Given the description of an element on the screen output the (x, y) to click on. 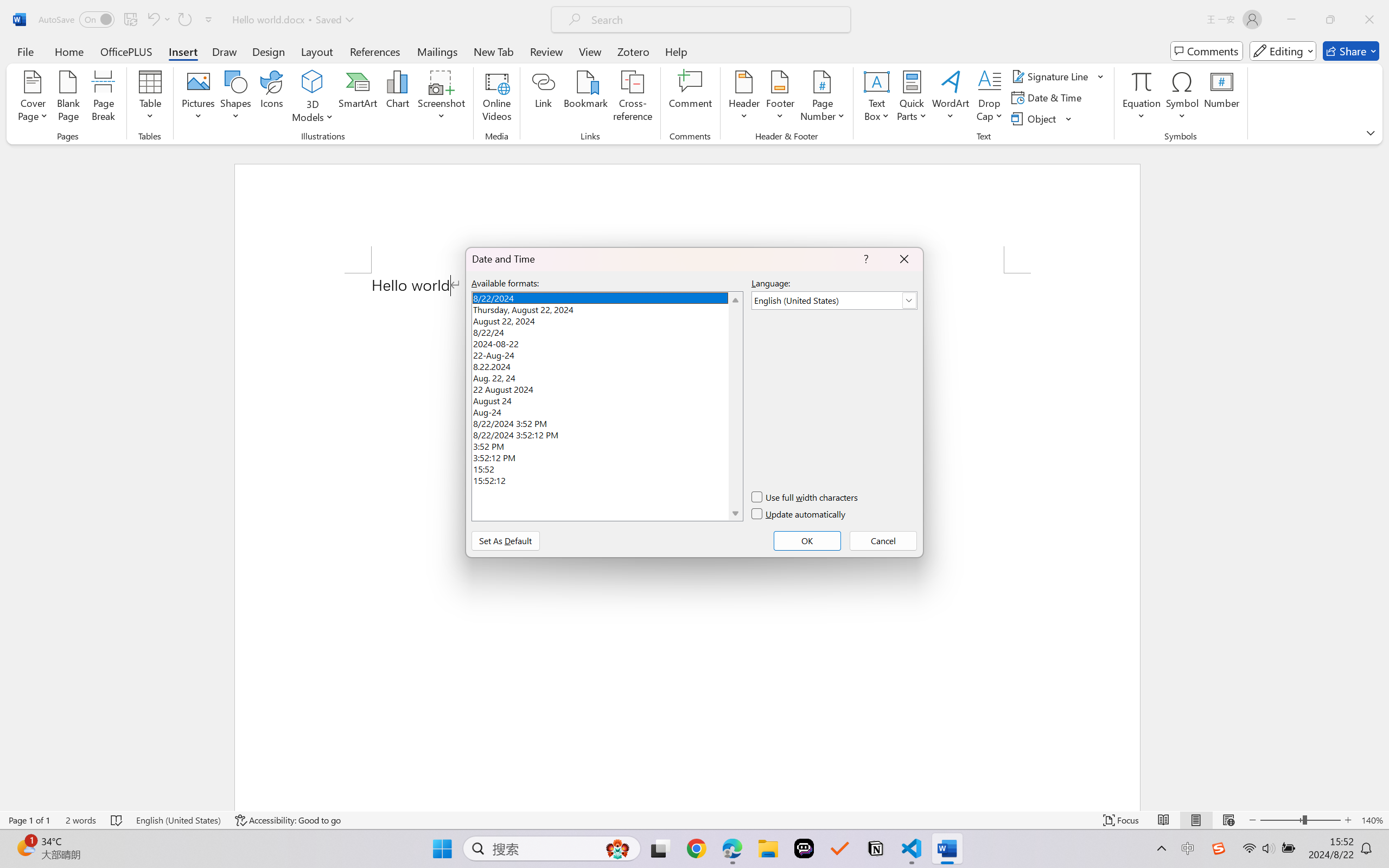
Swap "from" and "to" languages. (1293, 231)
Hide Ink (709, 62)
Previous (625, 47)
Reject Change (594, 51)
